Given the description of an element on the screen output the (x, y) to click on. 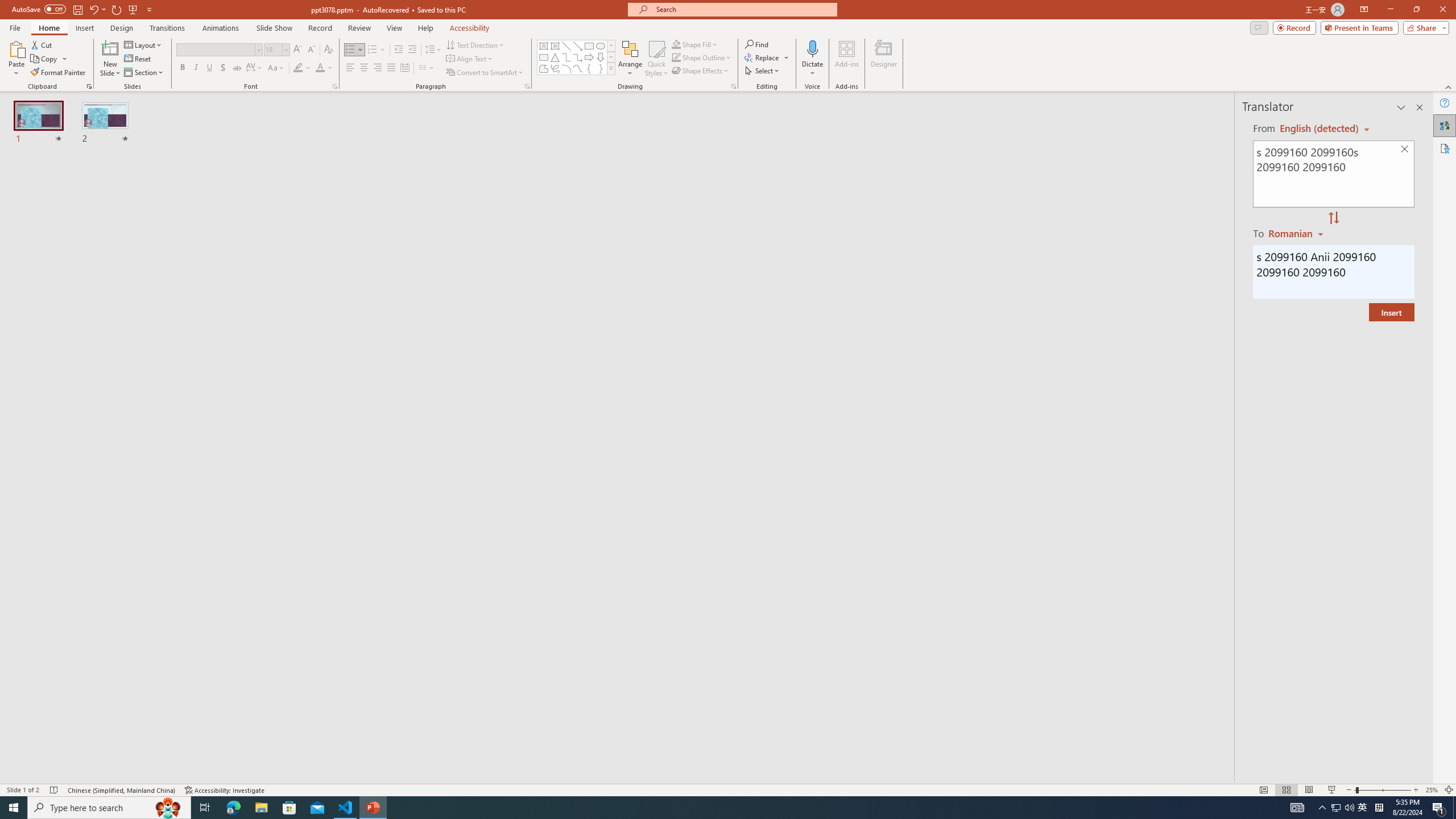
Romanian (1296, 232)
